Given the description of an element on the screen output the (x, y) to click on. 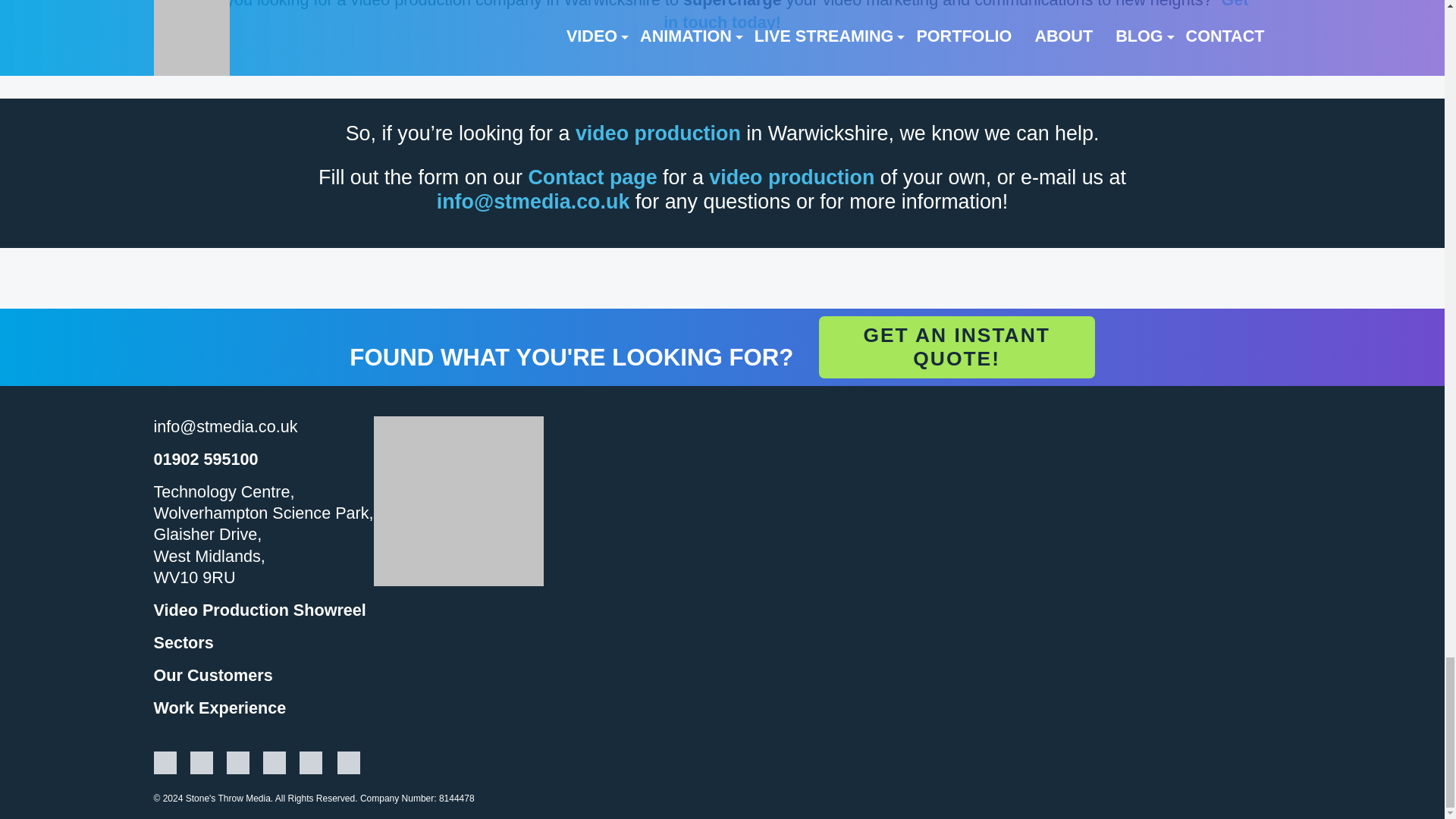
TikTok (236, 766)
Instagram (200, 766)
Linkedin (164, 766)
Phone (204, 458)
YouTube (273, 766)
video production (792, 177)
Twitter (312, 766)
G (1227, 4)
et in touch today! (955, 15)
Facebook (348, 766)
